Given the description of an element on the screen output the (x, y) to click on. 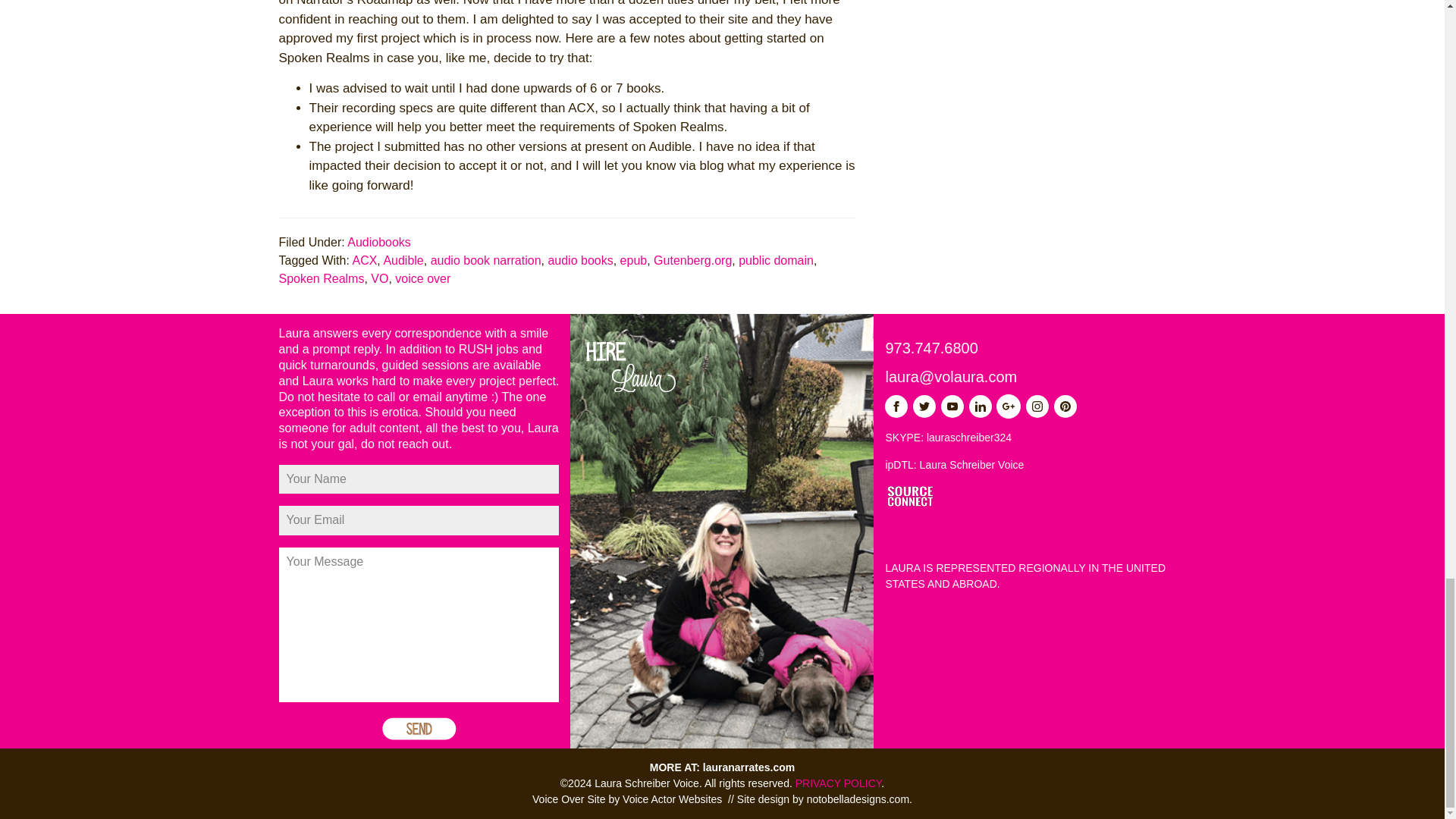
facebook (896, 405)
twitter (924, 405)
